Given the description of an element on the screen output the (x, y) to click on. 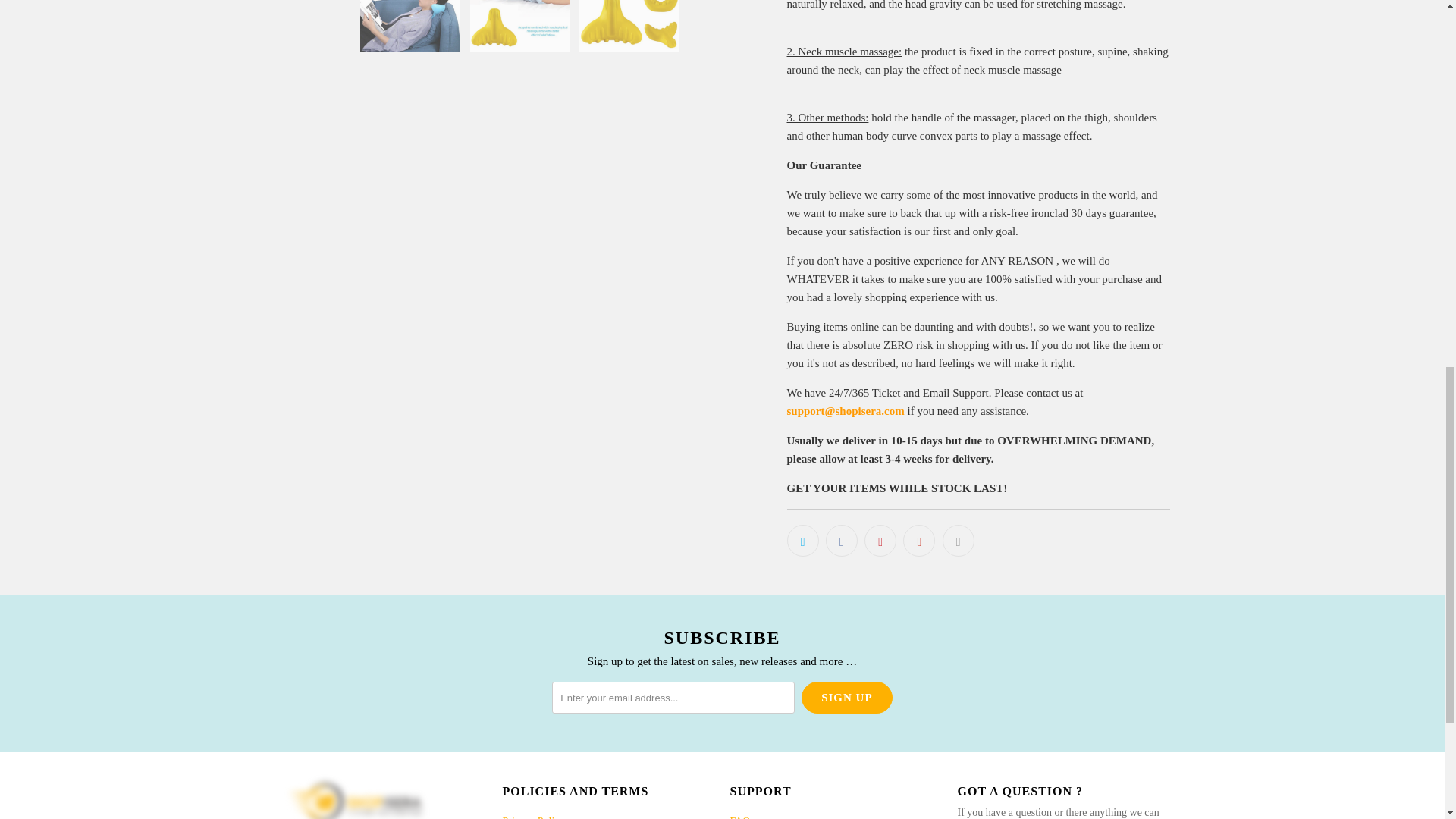
Share this on Twitter (802, 540)
Share this on Pinterest (880, 540)
Share this on Facebook (841, 540)
Sign Up (847, 697)
Email this to a friend (958, 540)
